Given the description of an element on the screen output the (x, y) to click on. 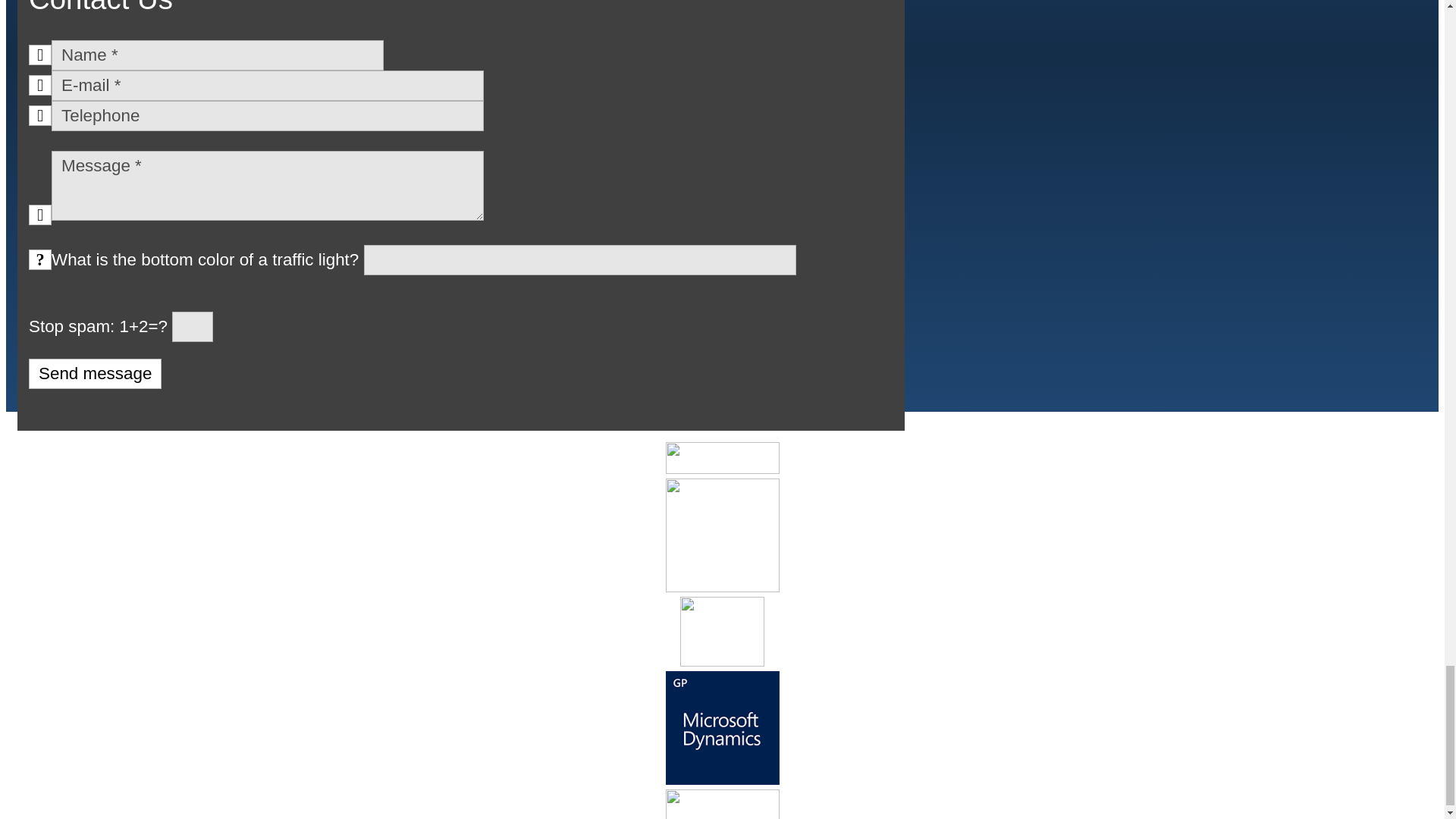
Send message (95, 373)
